Given the description of an element on the screen output the (x, y) to click on. 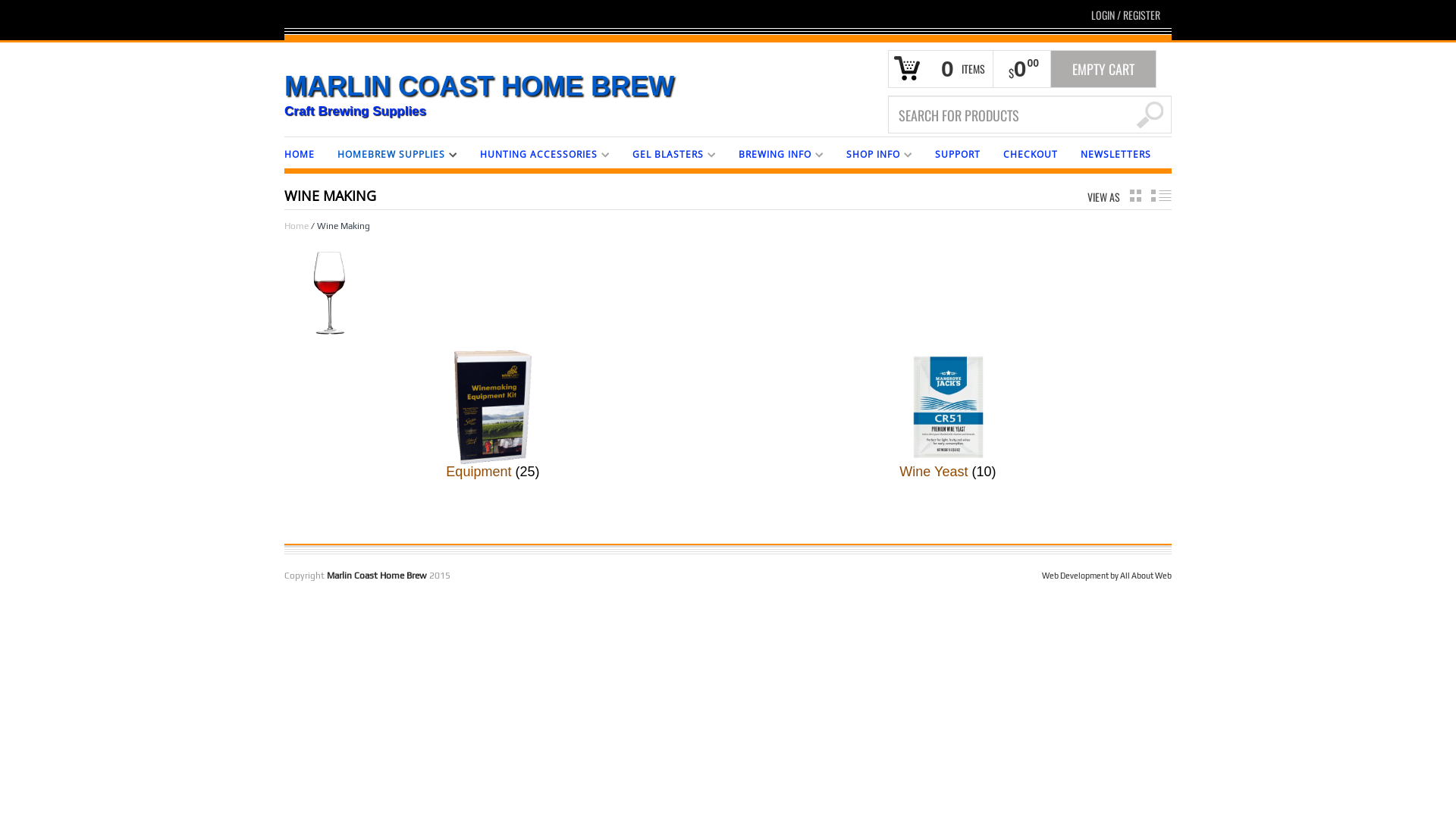
GRID Element type: text (1135, 195)
Home Element type: text (296, 225)
LIST Element type: text (1161, 195)
EMPTY CART Element type: text (1103, 68)
NEWSLETTERS Element type: text (1115, 152)
Wine Yeast (10) Element type: text (947, 414)
SUPPORT Element type: text (957, 152)
Web Development by All About Web Element type: text (1106, 575)
HOME Element type: text (299, 152)
Marlin Coast Home Brew Element type: text (376, 575)
Equipment (25) Element type: text (492, 414)
CHECKOUT Element type: text (1030, 152)
LOGIN / REGISTER Element type: text (1125, 14)
MARLIN COAST HOME BREW Element type: text (771, 86)
